Given the description of an element on the screen output the (x, y) to click on. 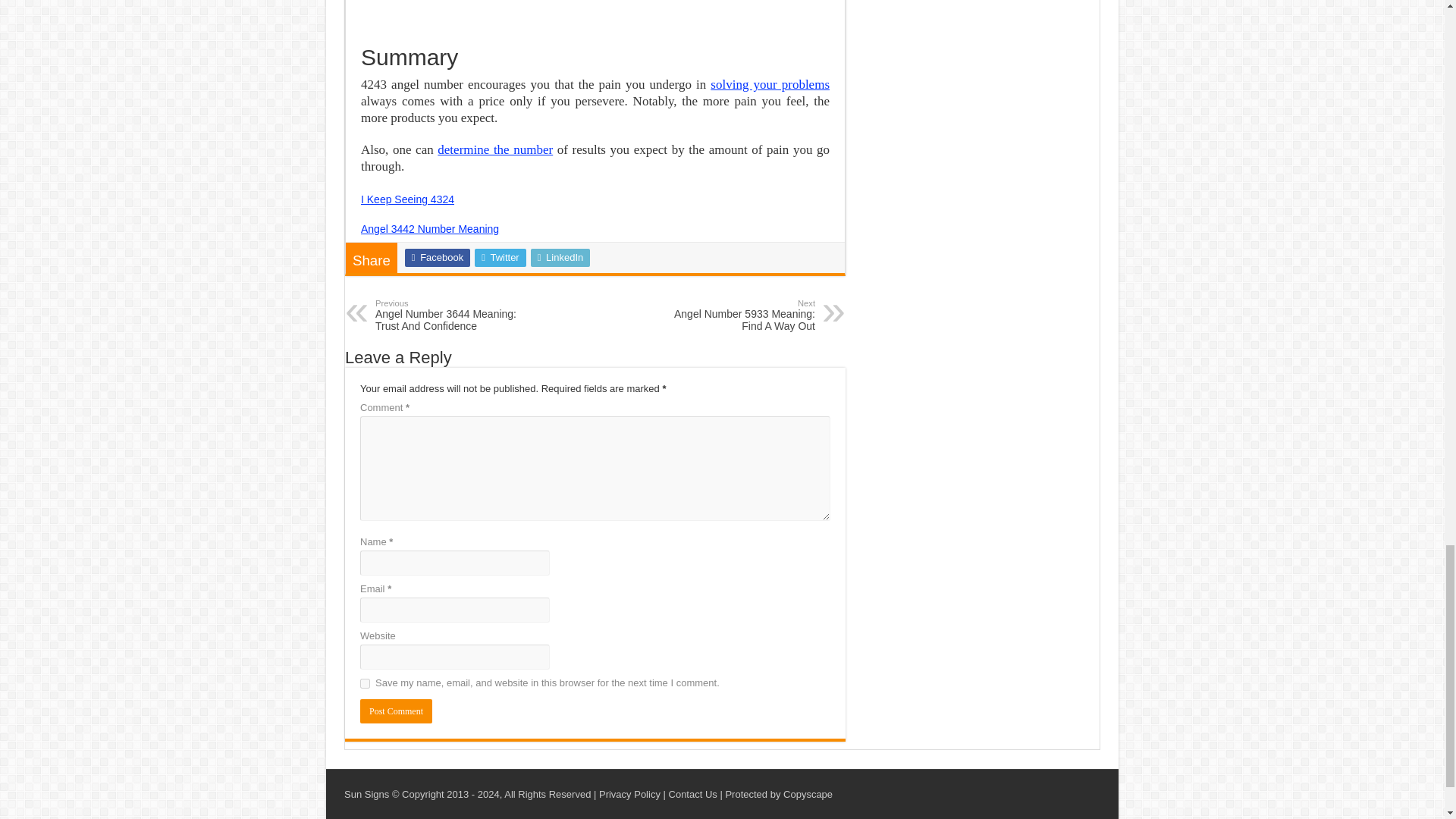
yes (364, 683)
I Keep Seeing 4324 (407, 199)
Post Comment (395, 711)
Angel 3442 Number Meaning (430, 228)
solving your problems (769, 83)
determine the number (495, 149)
I Keep Seeing 4324 (407, 199)
